Given the description of an element on the screen output the (x, y) to click on. 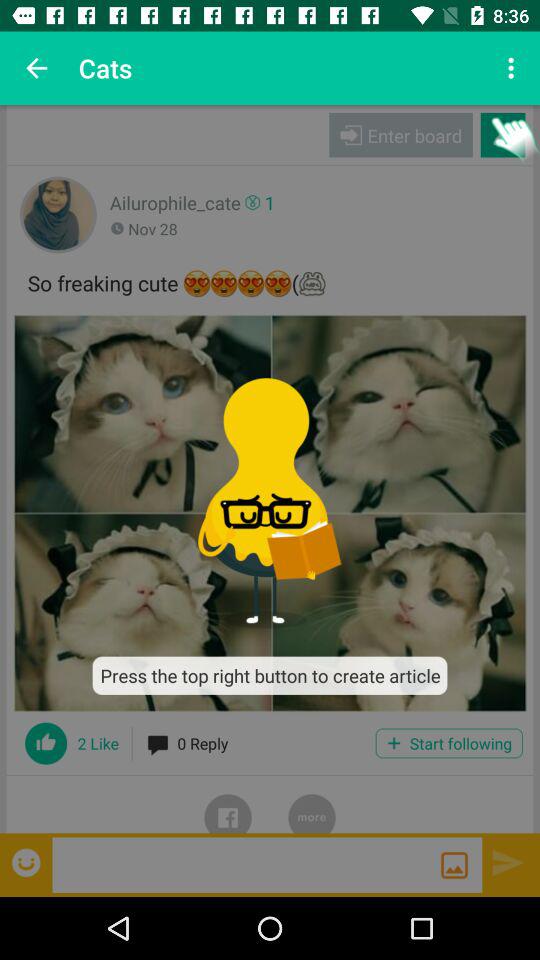
turn off start following (448, 743)
